Given the description of an element on the screen output the (x, y) to click on. 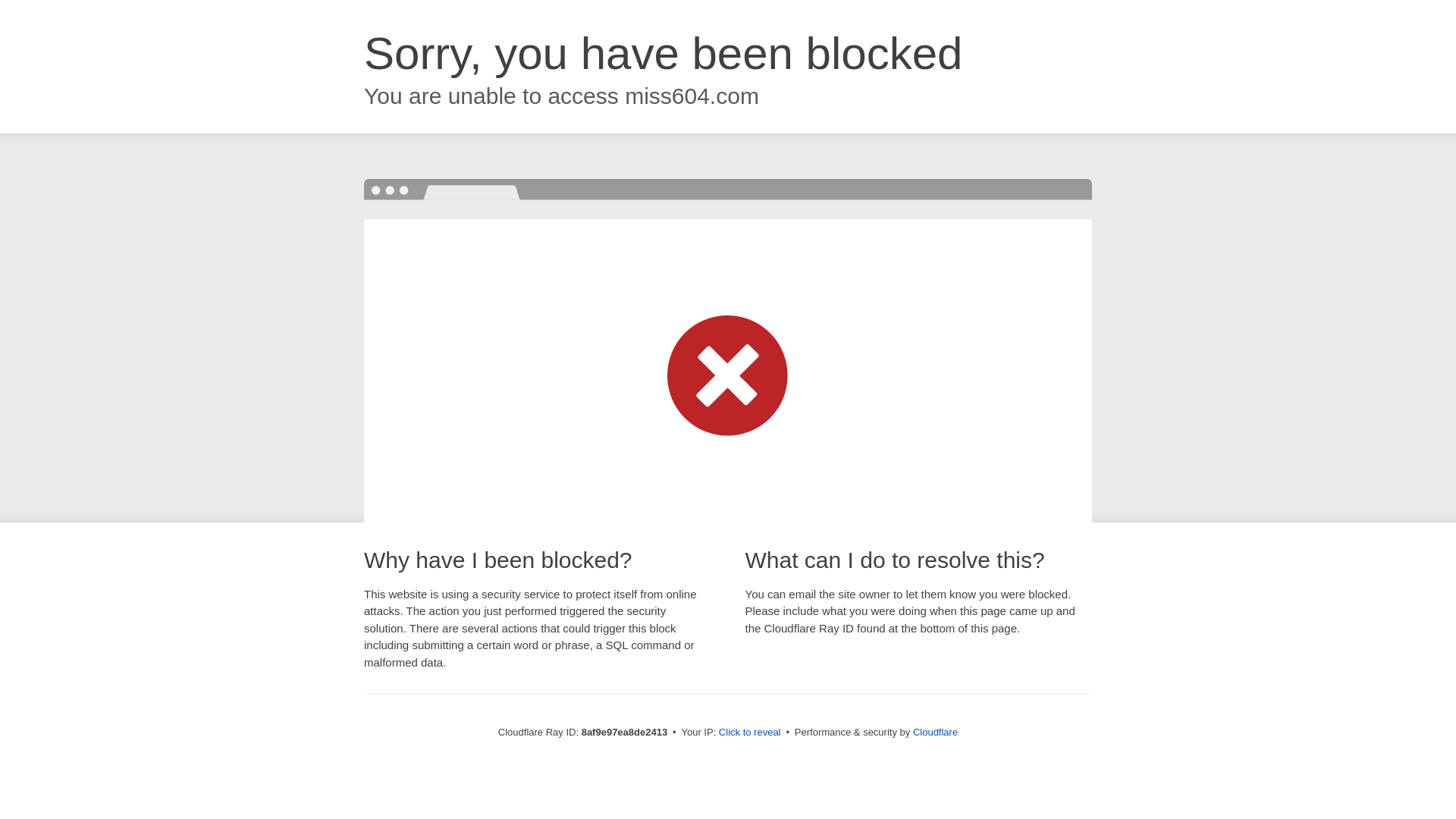
Cloudflare (935, 731)
Click to reveal (749, 732)
